Given the description of an element on the screen output the (x, y) to click on. 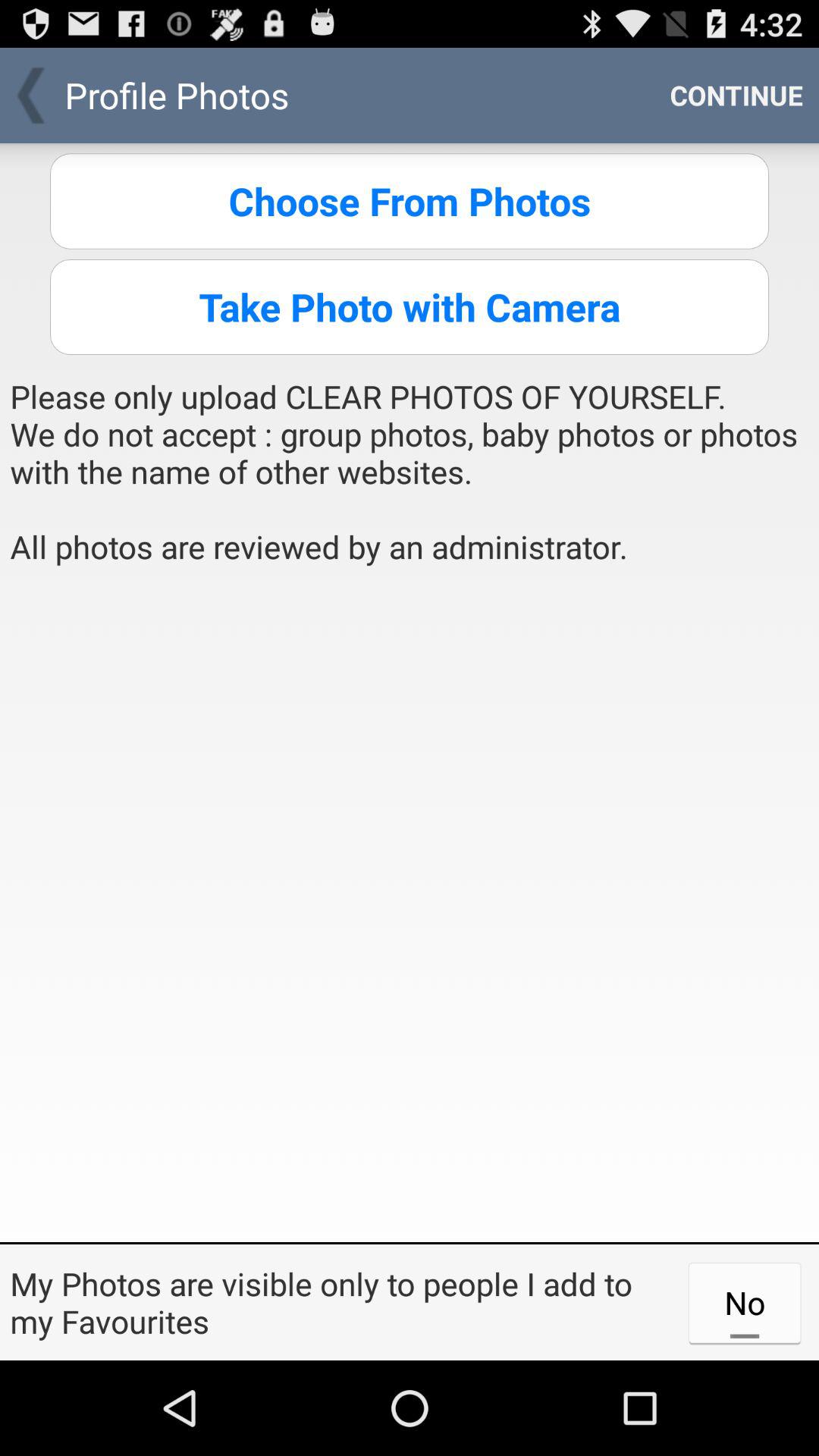
select app next to the my photos are item (744, 1302)
